Given the description of an element on the screen output the (x, y) to click on. 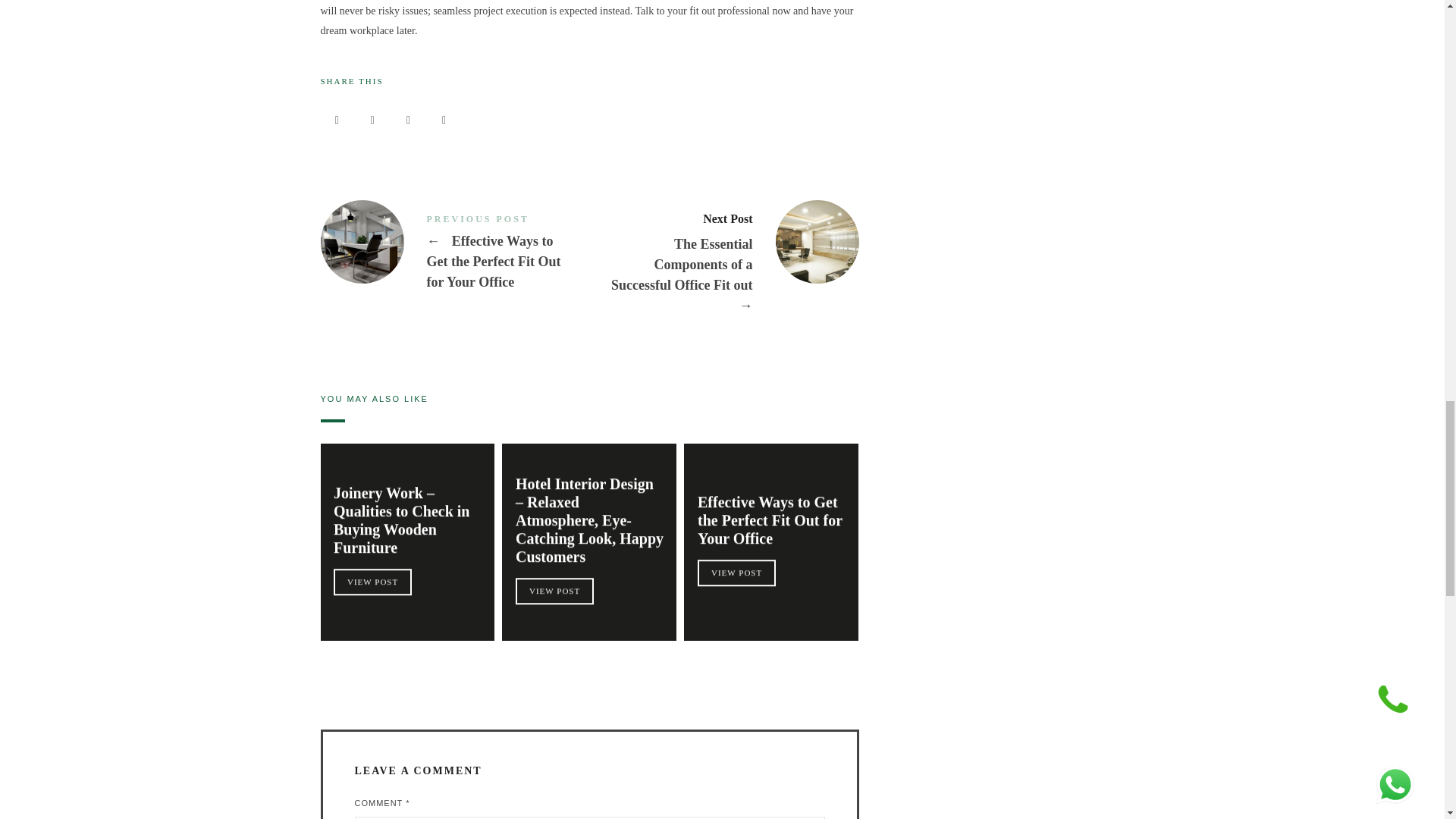
Tweet this post to your followers (373, 120)
Pin it (408, 120)
Email this post to a friend (444, 120)
Share this post on Facebook (336, 120)
